Given the description of an element on the screen output the (x, y) to click on. 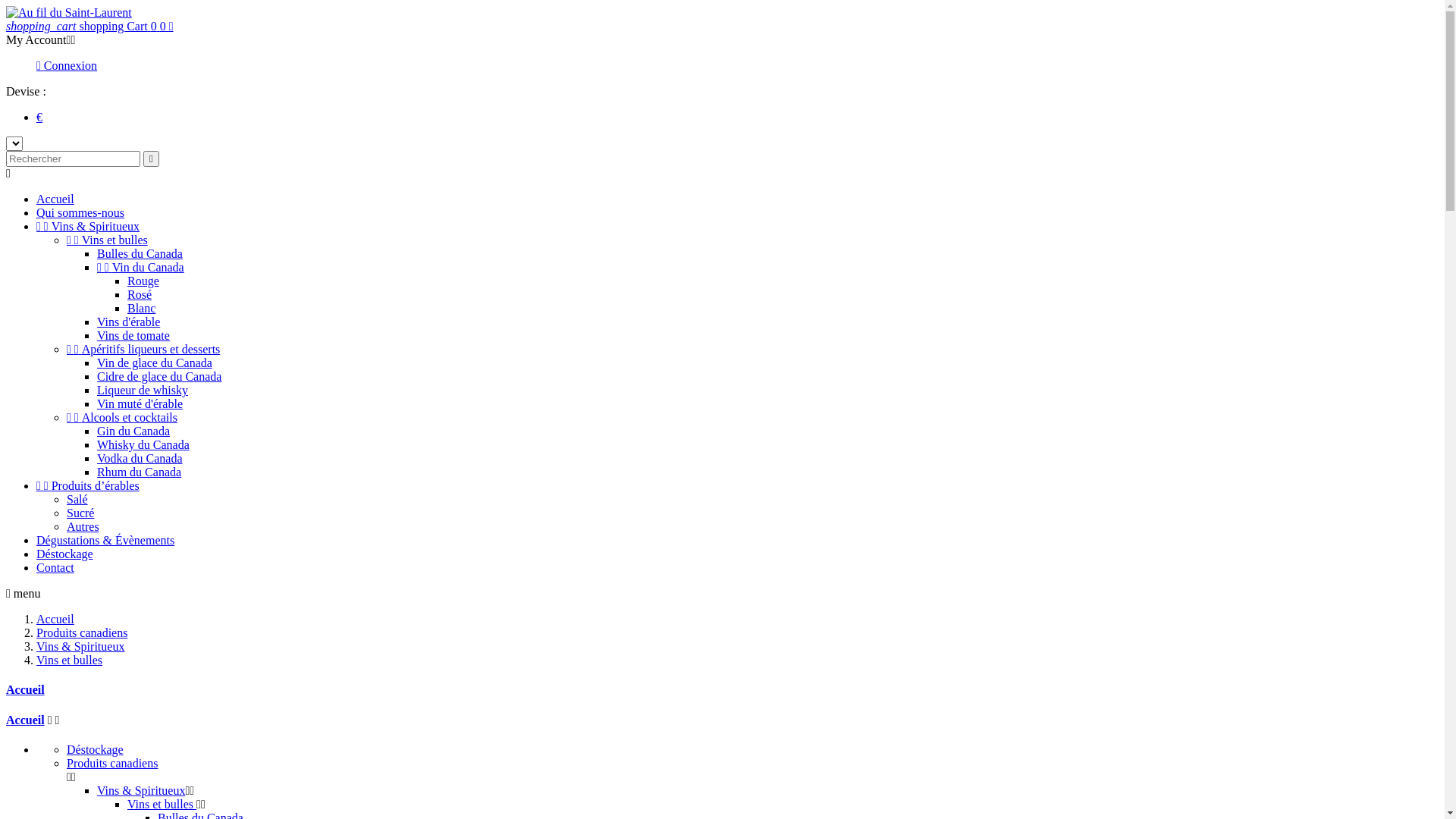
Vin de glace du Canada Element type: text (154, 362)
Vins et bulles Element type: text (161, 803)
Blanc Element type: text (141, 307)
Vodka du Canada Element type: text (139, 457)
Cidre de glace du Canada Element type: text (159, 376)
Vins de tomate Element type: text (133, 335)
Accueil Element type: text (55, 618)
Qui sommes-nous Element type: text (80, 212)
Liqueur de whisky Element type: text (142, 389)
Rhum du Canada Element type: text (139, 471)
Autres Element type: text (82, 526)
Produits canadiens Element type: text (81, 632)
Contact Element type: text (55, 567)
Produits canadiens Element type: text (111, 762)
Vins & Spiritueux Element type: text (80, 646)
Whisky du Canada Element type: text (143, 444)
Accueil Element type: text (55, 198)
Accueil Element type: text (25, 689)
Vins & Spiritueux Element type: text (141, 790)
Gin du Canada Element type: text (133, 430)
Rouge Element type: text (143, 280)
Bulles du Canada Element type: text (139, 253)
Accueil Element type: text (25, 719)
Vins et bulles Element type: text (69, 659)
